Given the description of an element on the screen output the (x, y) to click on. 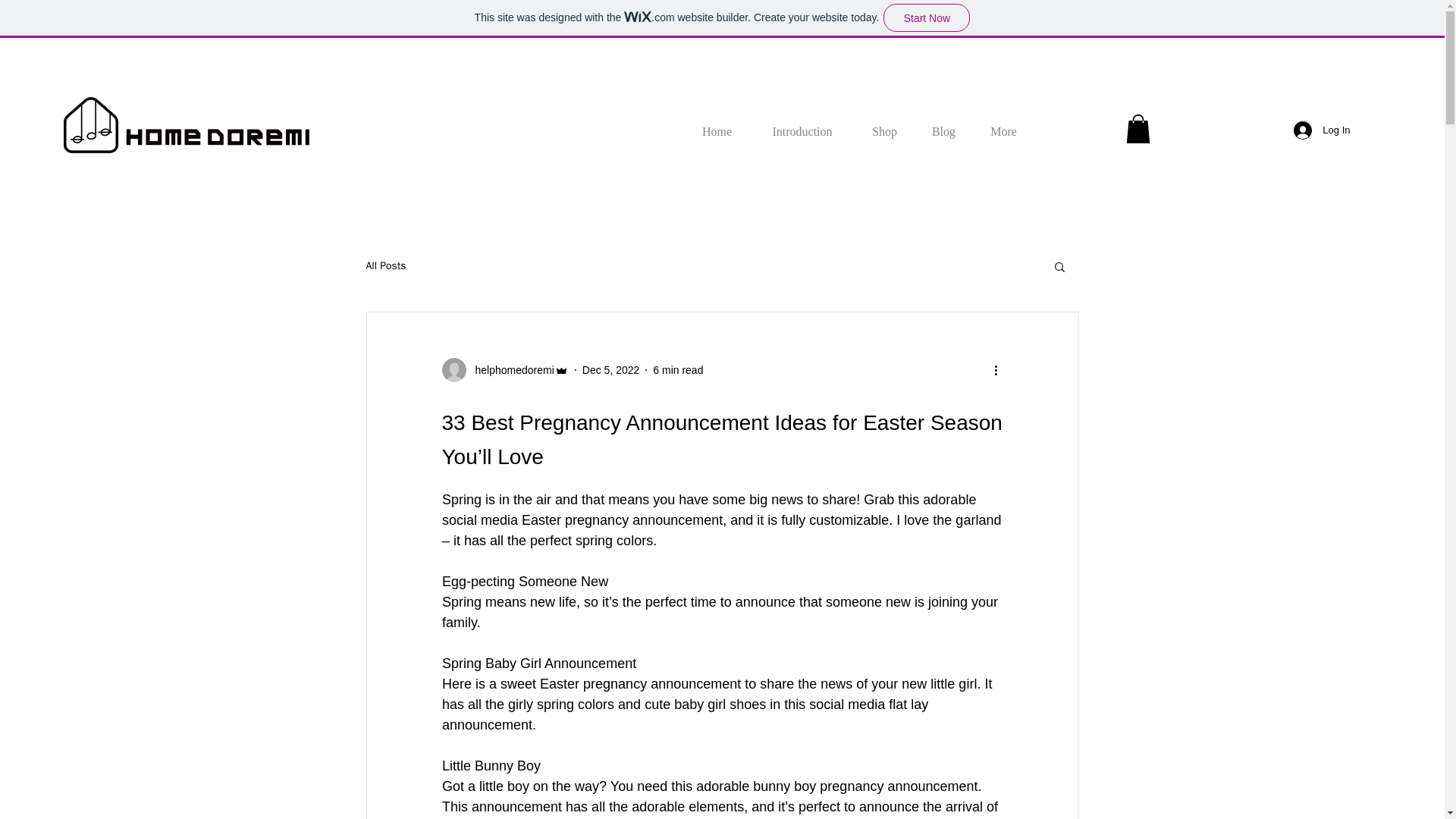
helphomedoremi (509, 370)
Blog (943, 124)
Shop (883, 124)
Introduction (802, 124)
Dec 5, 2022 (611, 369)
Log In (1320, 130)
Home (717, 124)
All Posts (385, 265)
6 min read (677, 369)
helphomedoremi (504, 369)
